Given the description of an element on the screen output the (x, y) to click on. 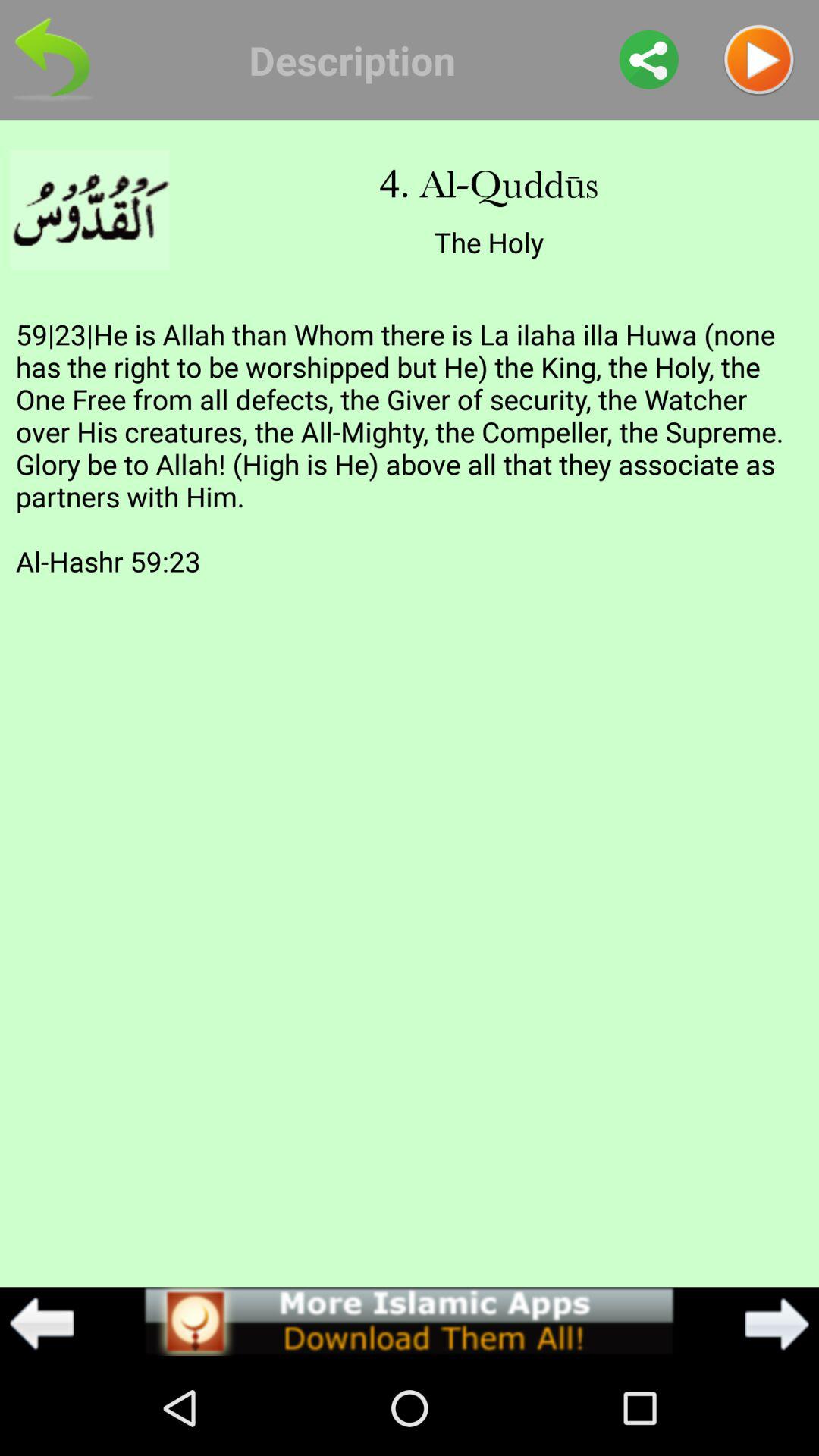
choose the app to the right of the description icon (648, 59)
